Given the description of an element on the screen output the (x, y) to click on. 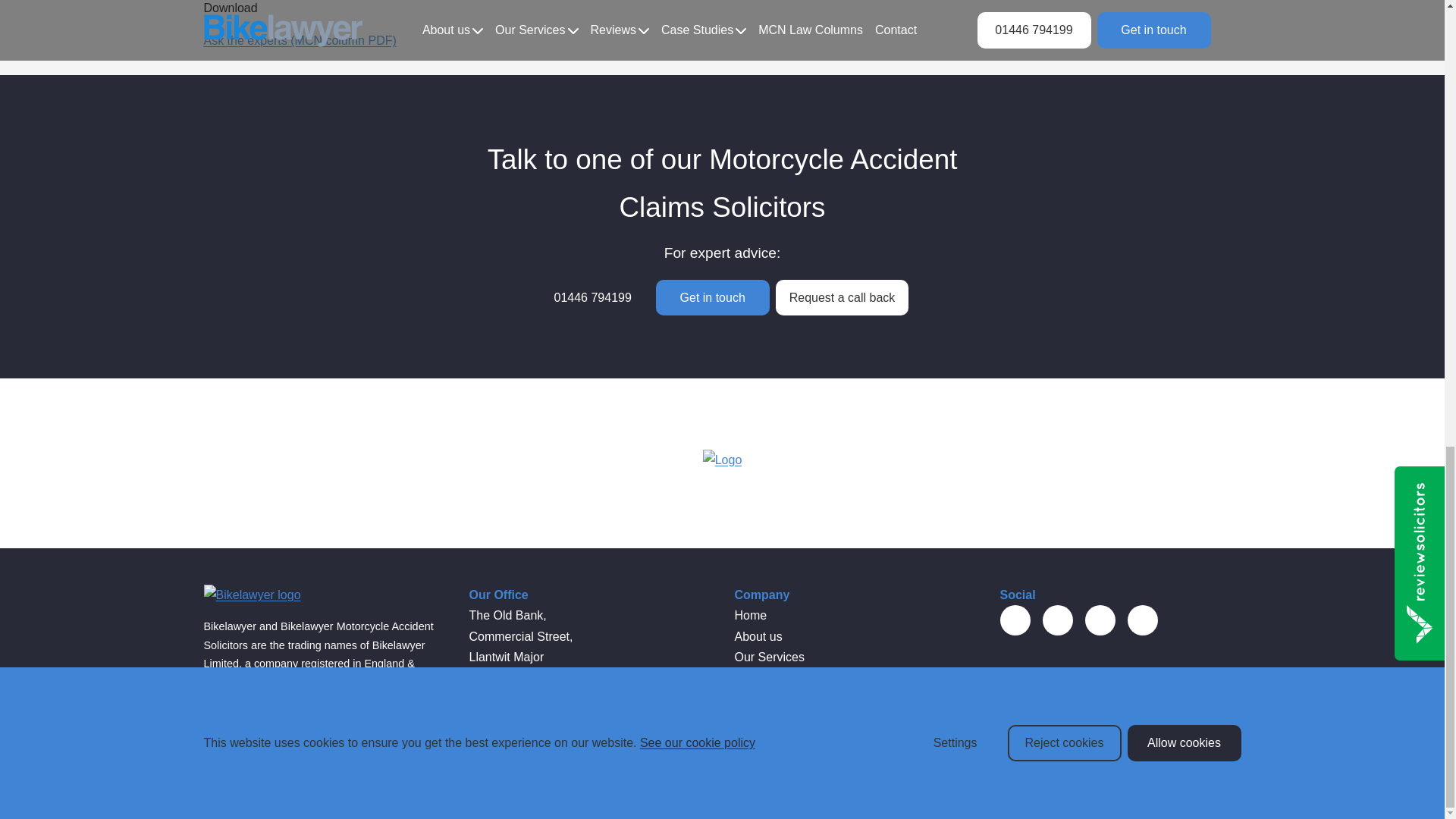
Visit our Linkedin account (1099, 620)
Visit our Instagram account (1141, 620)
Visit our Facebook account (1013, 620)
SRA Badge (1074, 692)
Visit our Twitter account (1056, 620)
